Given the description of an element on the screen output the (x, y) to click on. 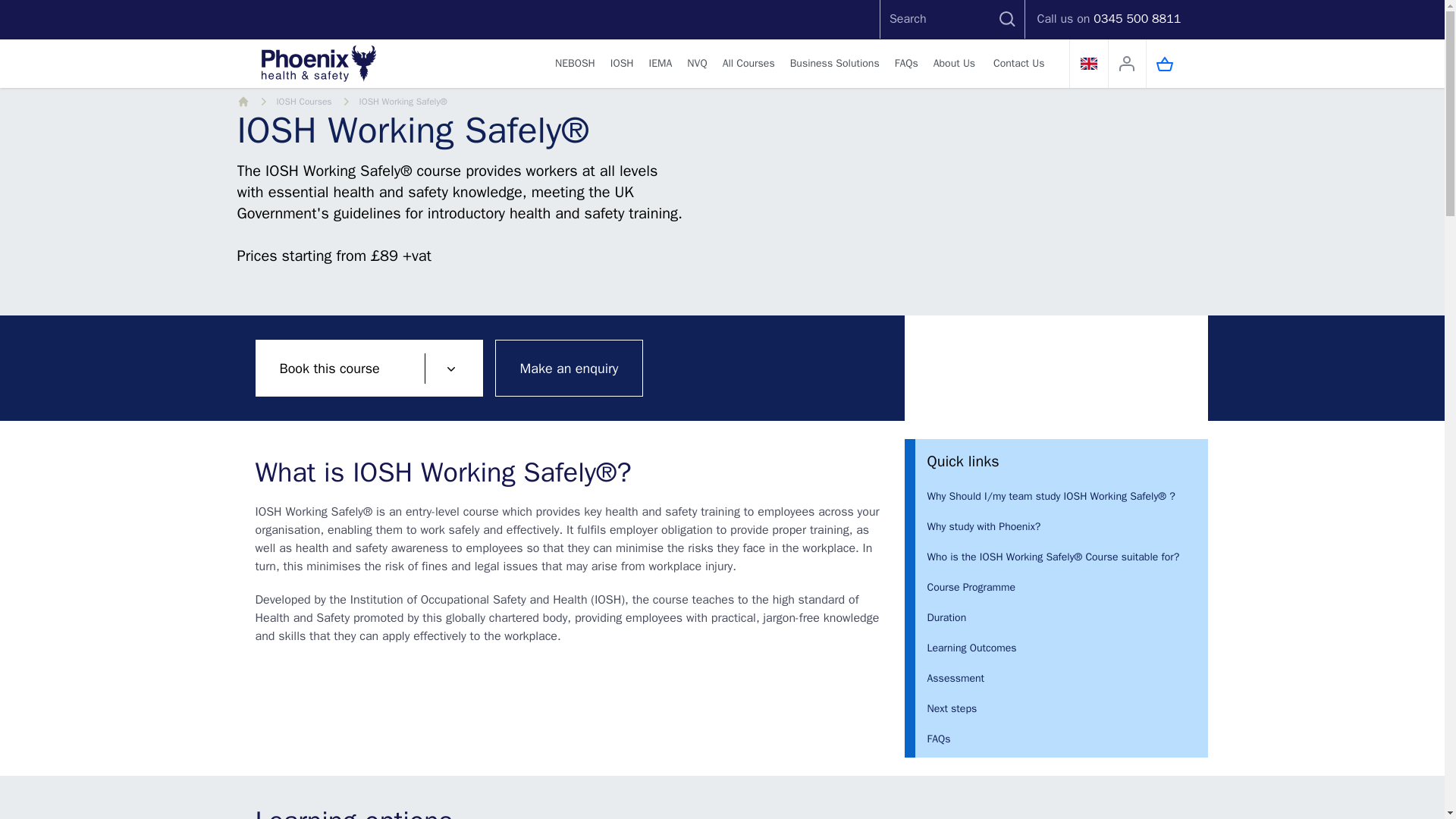
0345 500 8811 (1136, 18)
Phoenix Logo (317, 63)
IOSH (622, 63)
NEBOSH (574, 63)
NVQ (697, 63)
IEMA (660, 63)
